Given the description of an element on the screen output the (x, y) to click on. 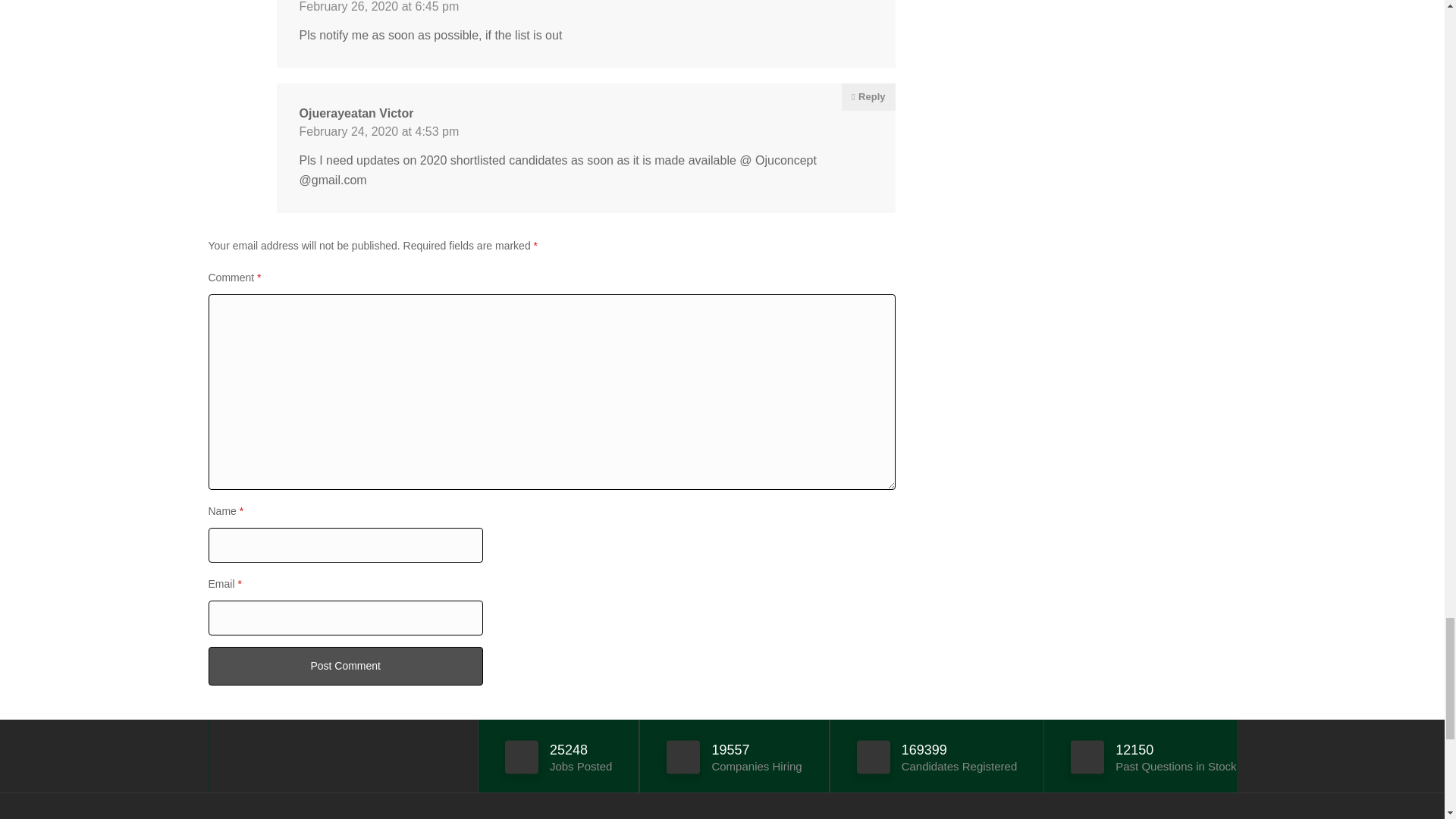
Post Comment (344, 666)
